Given the description of an element on the screen output the (x, y) to click on. 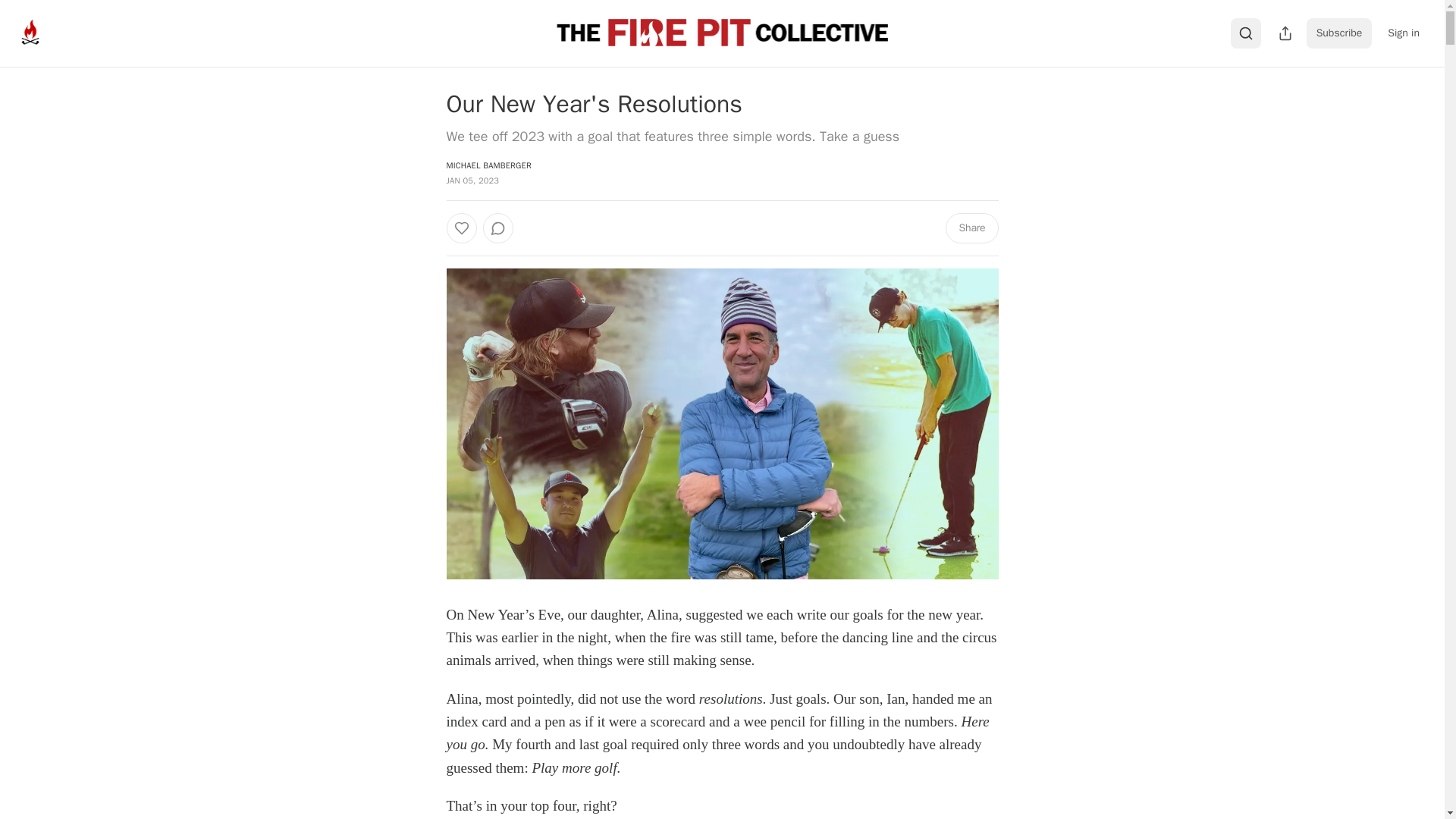
Subscribe (1339, 33)
Share (970, 227)
MICHAEL BAMBERGER (488, 164)
Sign in (1403, 33)
